Given the description of an element on the screen output the (x, y) to click on. 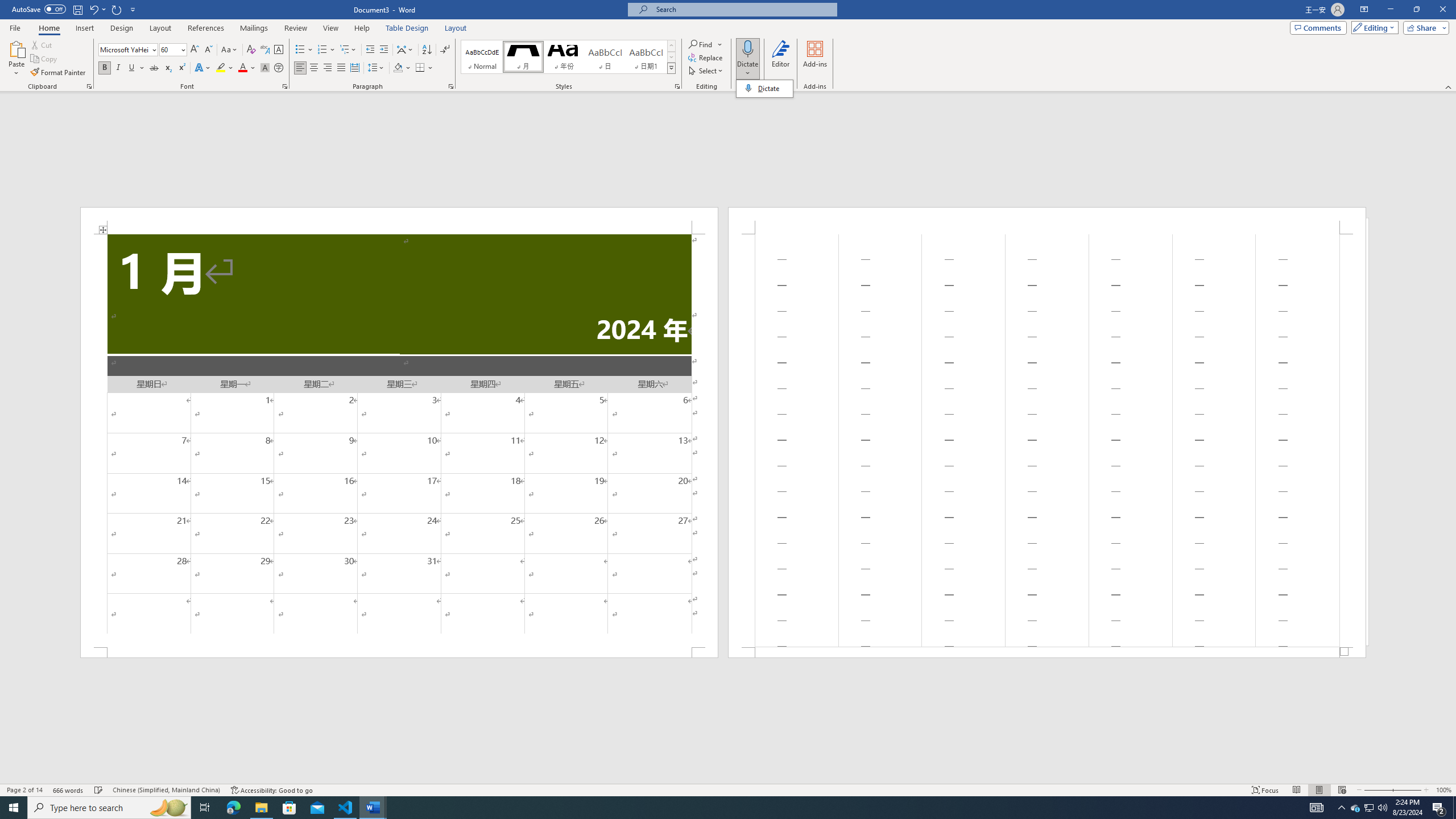
Type here to search (108, 807)
Find (705, 44)
Task View (204, 807)
Row Down (670, 56)
Change Case (229, 49)
Header -Section 1- (1046, 220)
Shading (402, 67)
Font Color RGB(255, 0, 0) (241, 67)
AutomationID: 4105 (1316, 807)
